Given the description of an element on the screen output the (x, y) to click on. 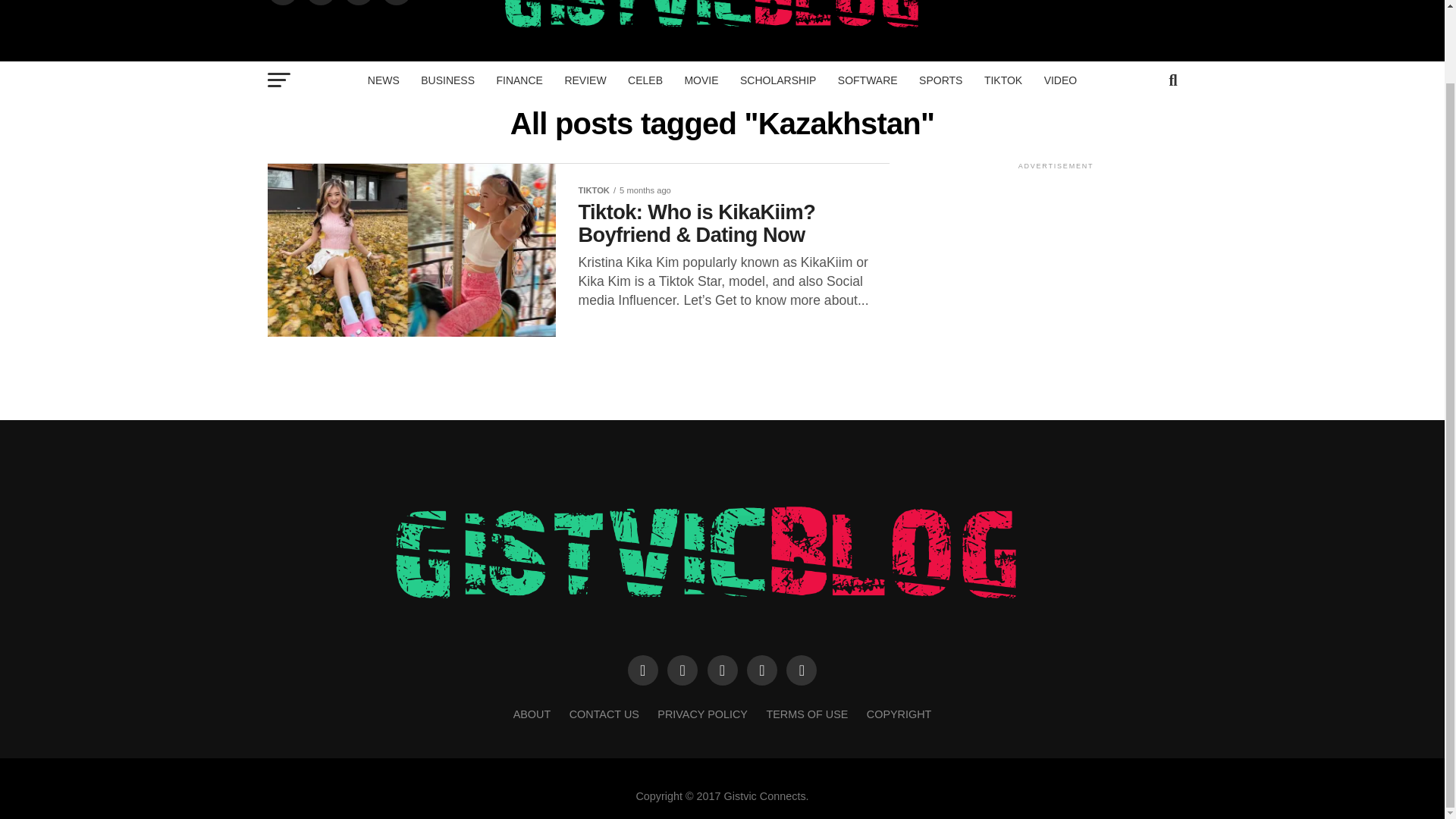
BUSINESS (447, 80)
NEWS (383, 80)
FINANCE (518, 80)
